Given the description of an element on the screen output the (x, y) to click on. 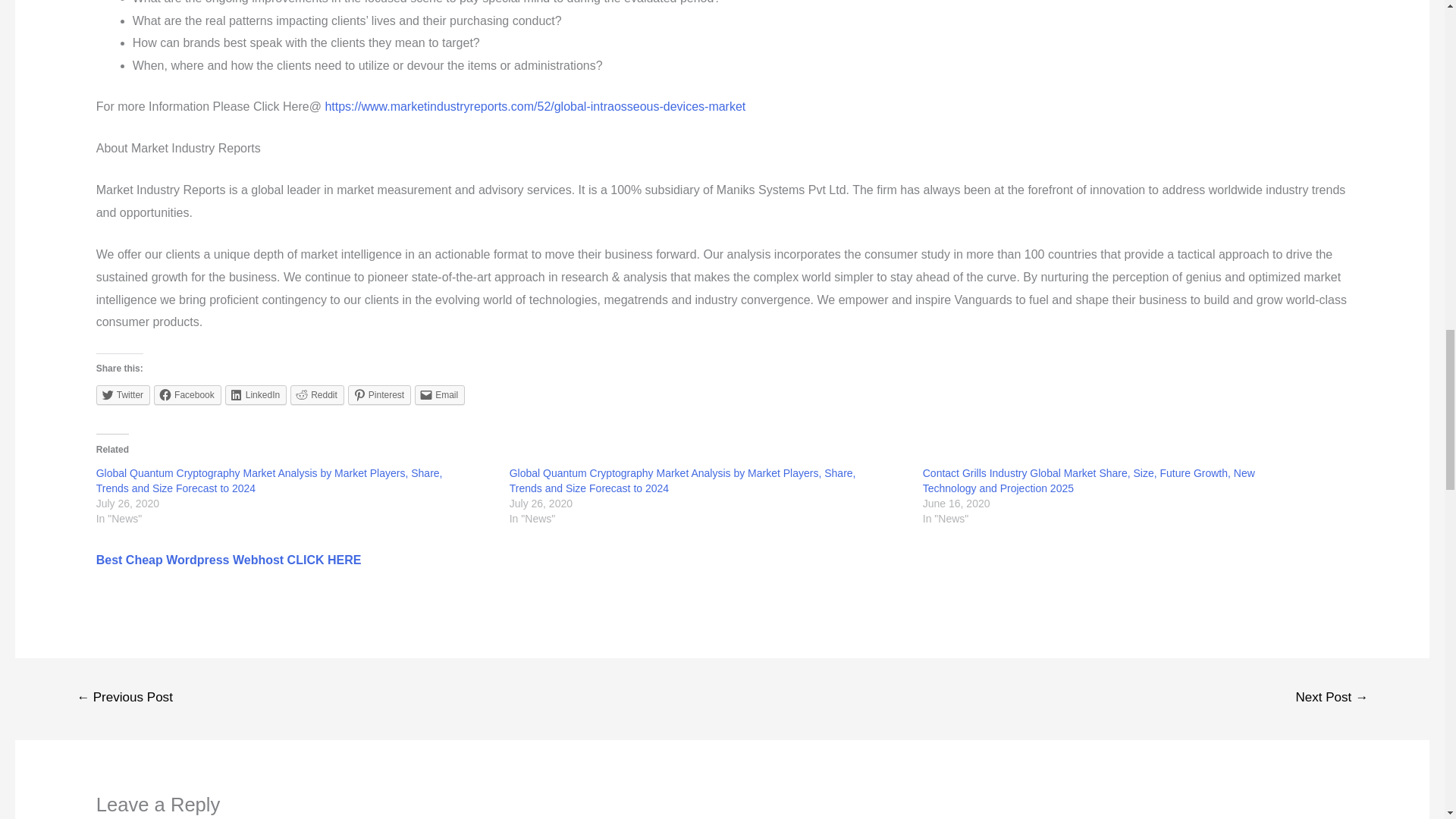
Twitter (122, 394)
Reddit (316, 394)
LinkedIn (255, 394)
Click to share on Pinterest (378, 394)
Best Cheap Wordpress Webhost CLICK HERE (228, 559)
Click to share on Facebook (187, 394)
Click to share on Twitter (122, 394)
Click to share on LinkedIn (255, 394)
Click to share on Reddit (316, 394)
